Given the description of an element on the screen output the (x, y) to click on. 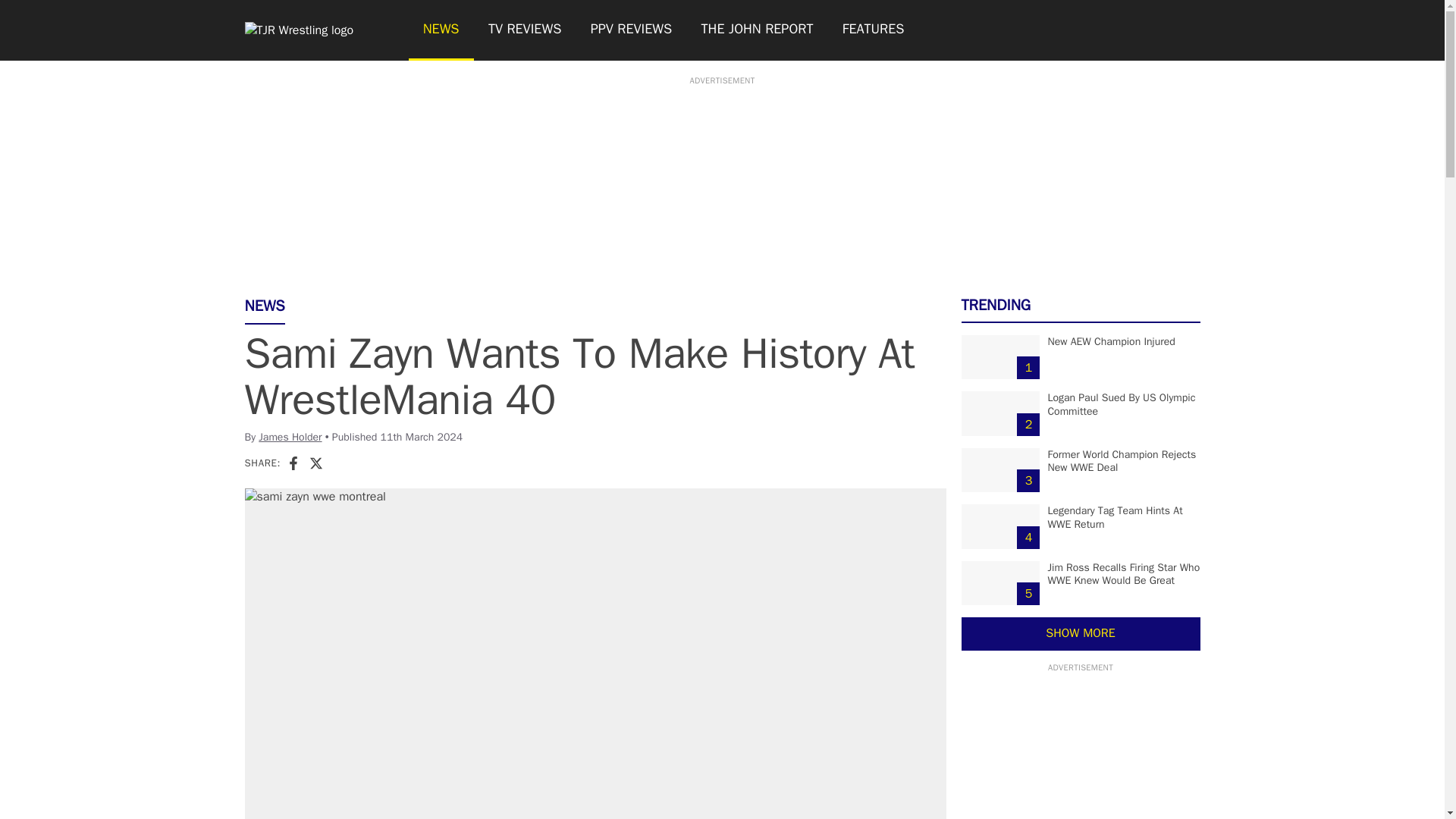
FEATURES (873, 30)
X (315, 463)
NEWS (440, 30)
THE JOHN REPORT (756, 30)
TV REVIEWS (525, 30)
Facebook (292, 463)
Facebook (292, 462)
PPV REVIEWS (631, 30)
James Holder (290, 436)
X (315, 462)
